Given the description of an element on the screen output the (x, y) to click on. 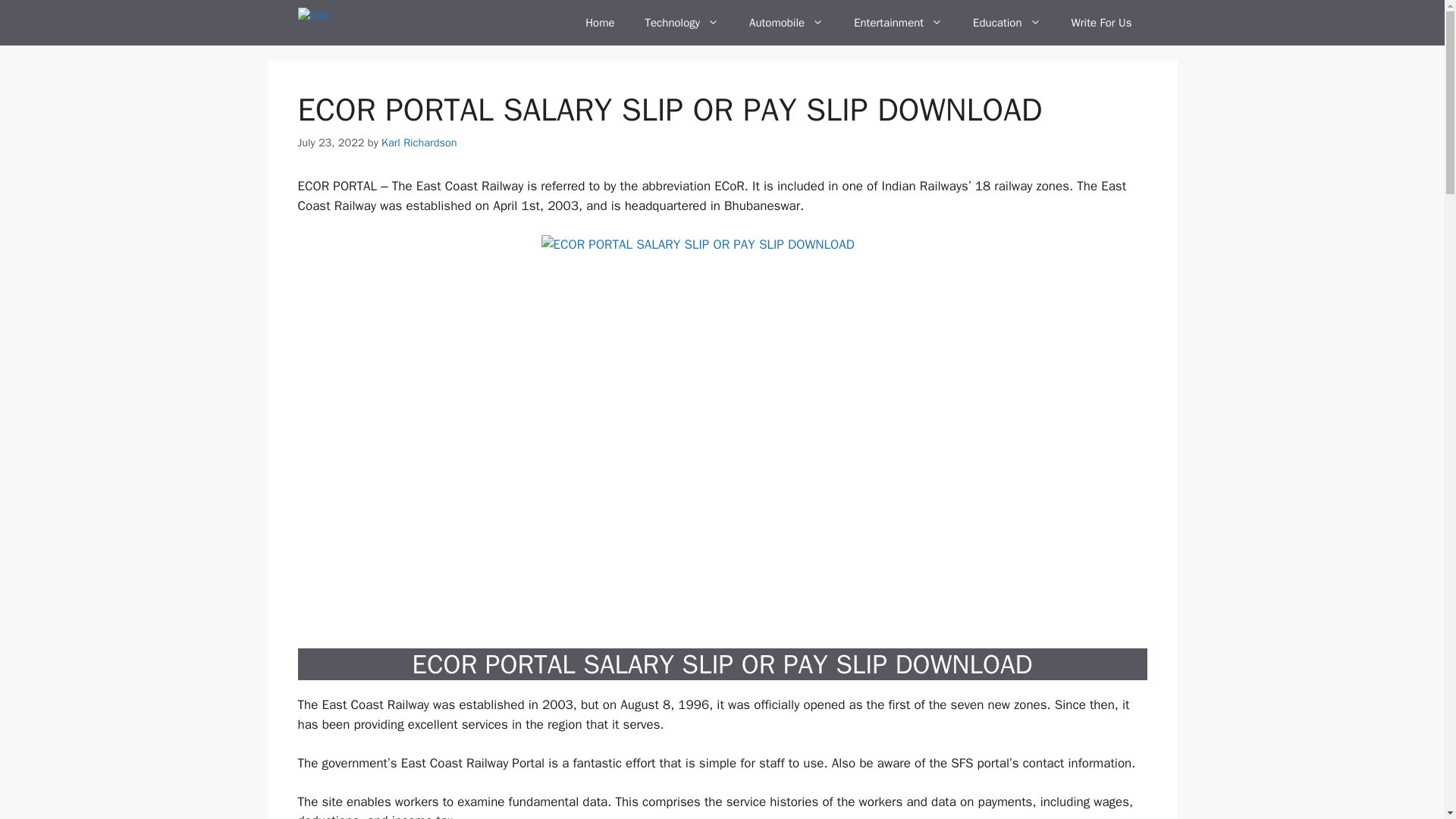
Automobile (785, 22)
DSC (317, 22)
Karl Richardson (419, 142)
Entertainment (898, 22)
View all posts by Karl Richardson (419, 142)
Write For Us (1101, 22)
Home (599, 22)
Education (1006, 22)
Technology (682, 22)
